Given the description of an element on the screen output the (x, y) to click on. 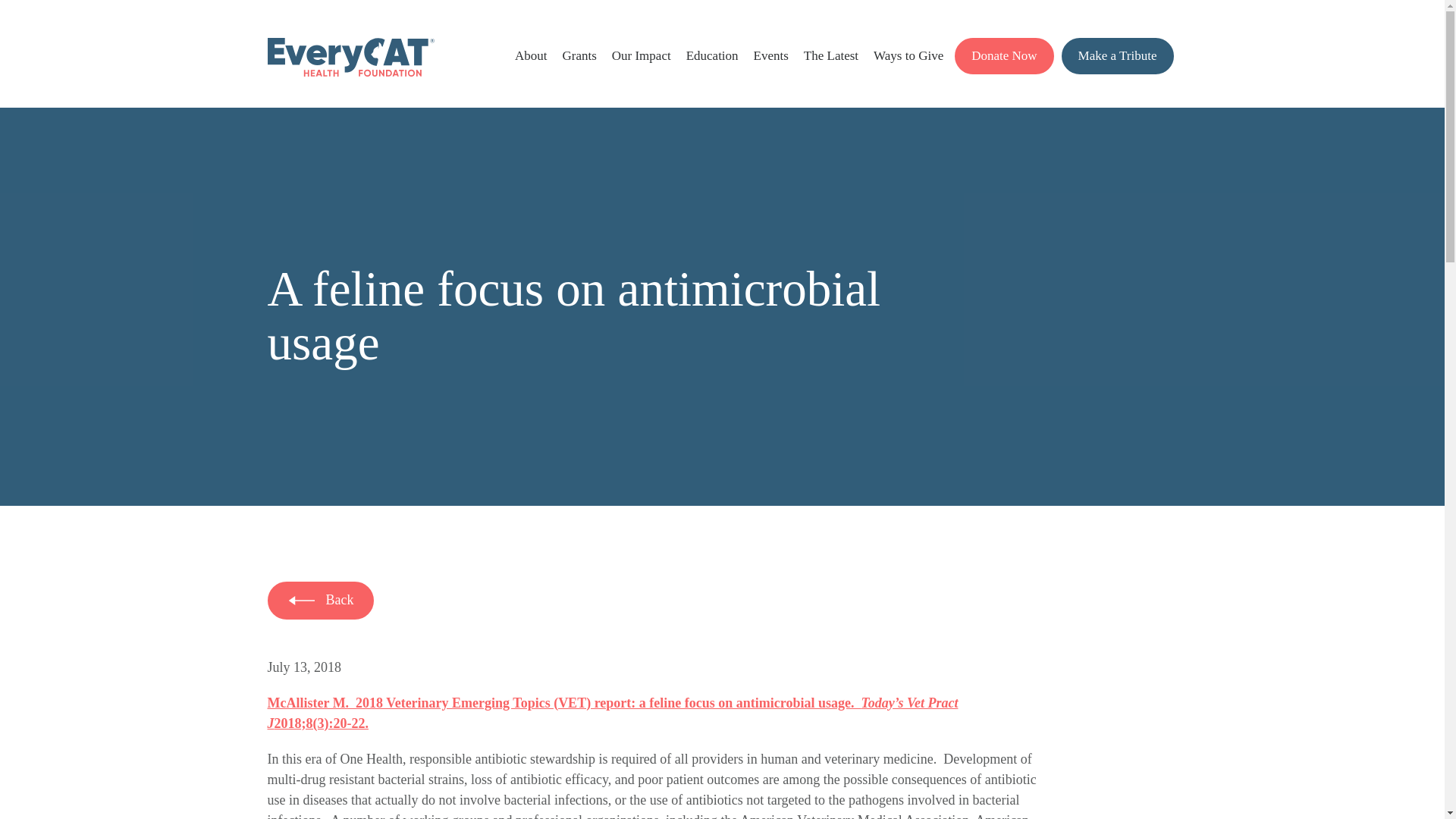
Our Impact (641, 55)
Go Back (320, 600)
About (531, 55)
Grants (578, 55)
The Latest (831, 55)
Ways to Give (908, 55)
Education (711, 55)
Events (771, 55)
Home (349, 72)
Donate Now (1003, 55)
